Given the description of an element on the screen output the (x, y) to click on. 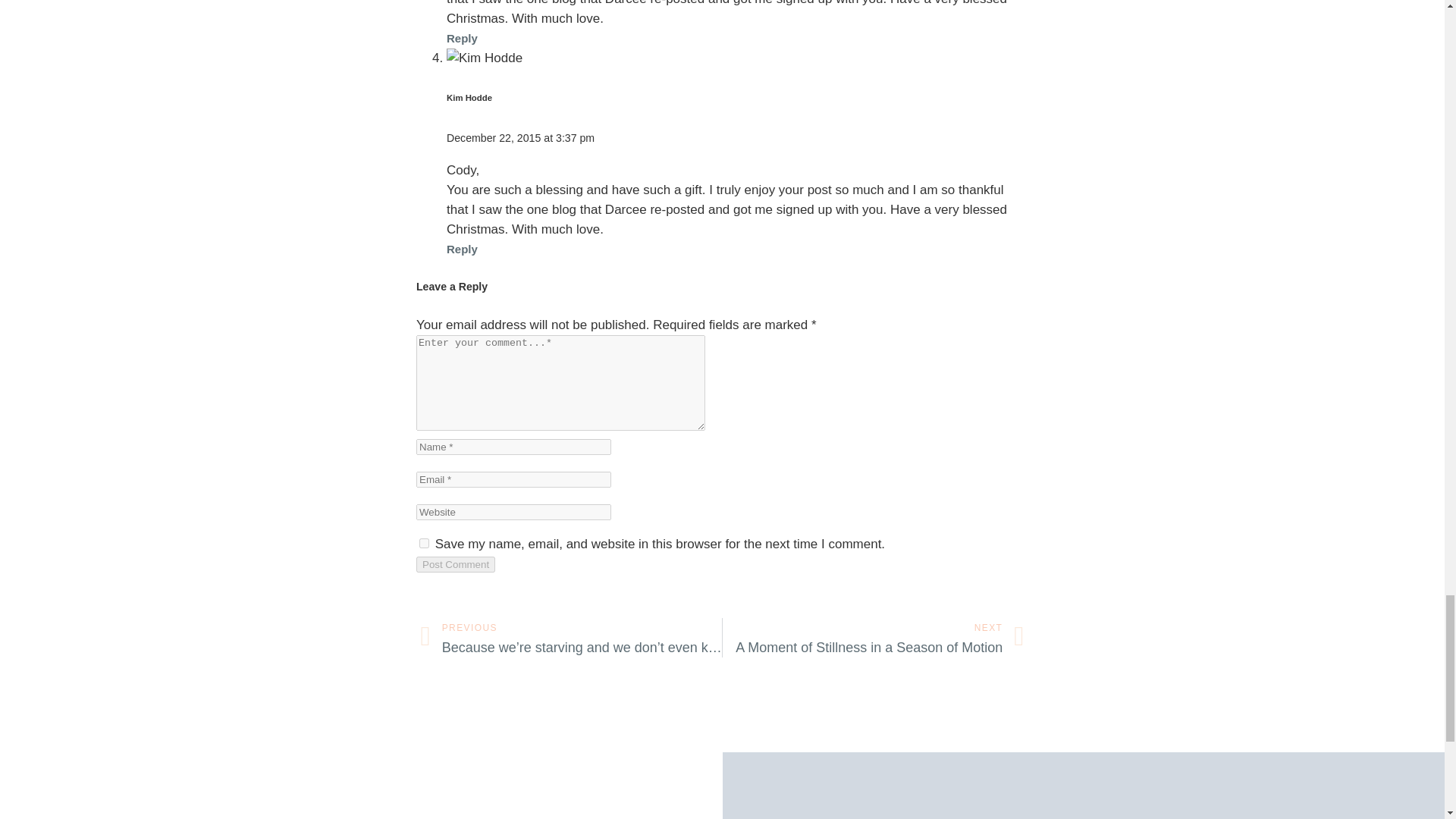
Post Comment (455, 564)
yes (424, 542)
Post Comment (455, 564)
Reply (461, 248)
Reply (873, 637)
